Given the description of an element on the screen output the (x, y) to click on. 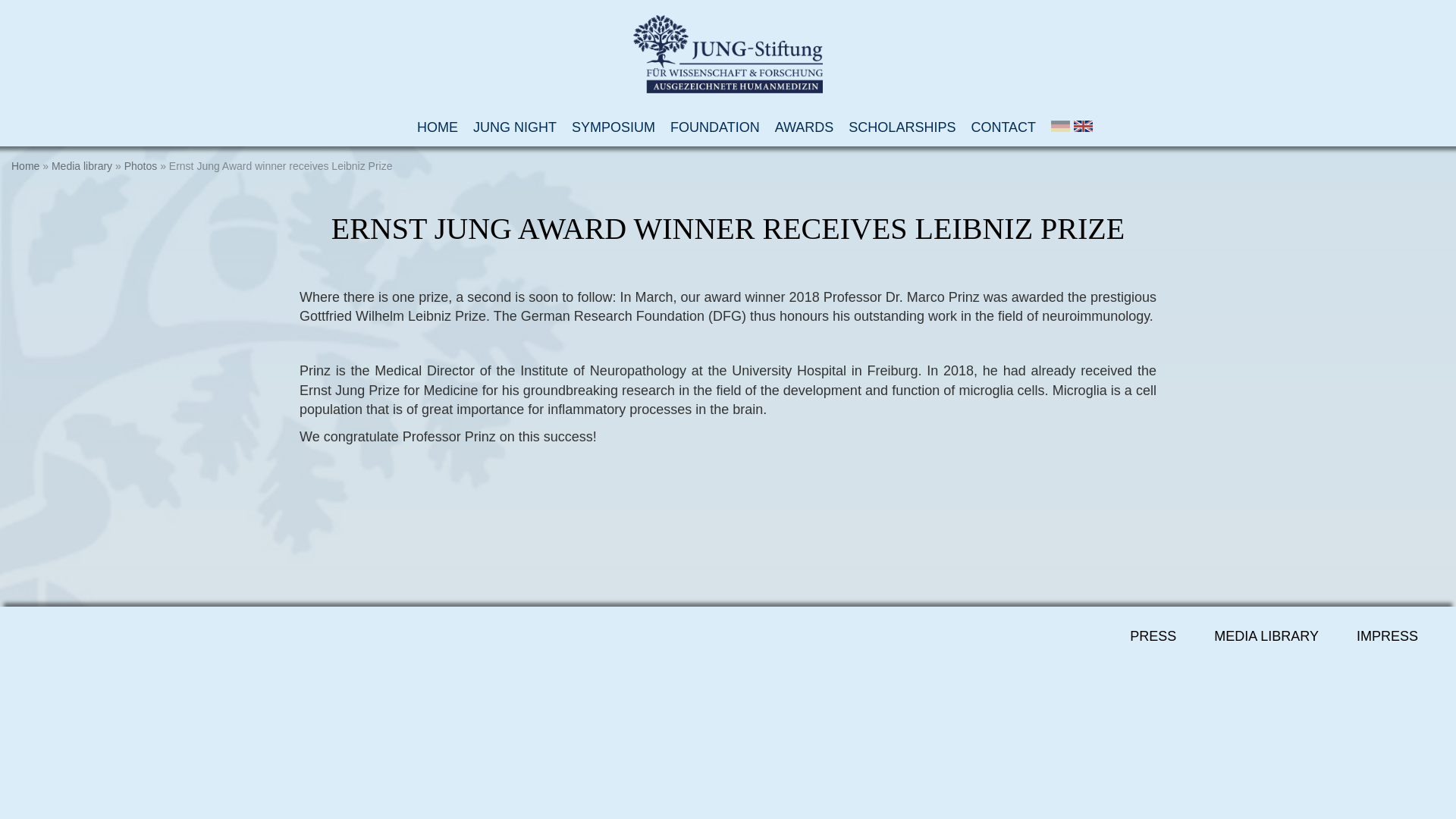
Home (25, 165)
Media library (81, 165)
JUNG NIGHT (514, 127)
HOME (437, 127)
CONTACT (1003, 127)
Photos (140, 165)
EN (1083, 125)
Jung Stiftung - AUSGEZEICHNETE MEDIZIN (727, 54)
SCHOLARSHIPS (901, 127)
SYMPOSIUM (613, 127)
